Given the description of an element on the screen output the (x, y) to click on. 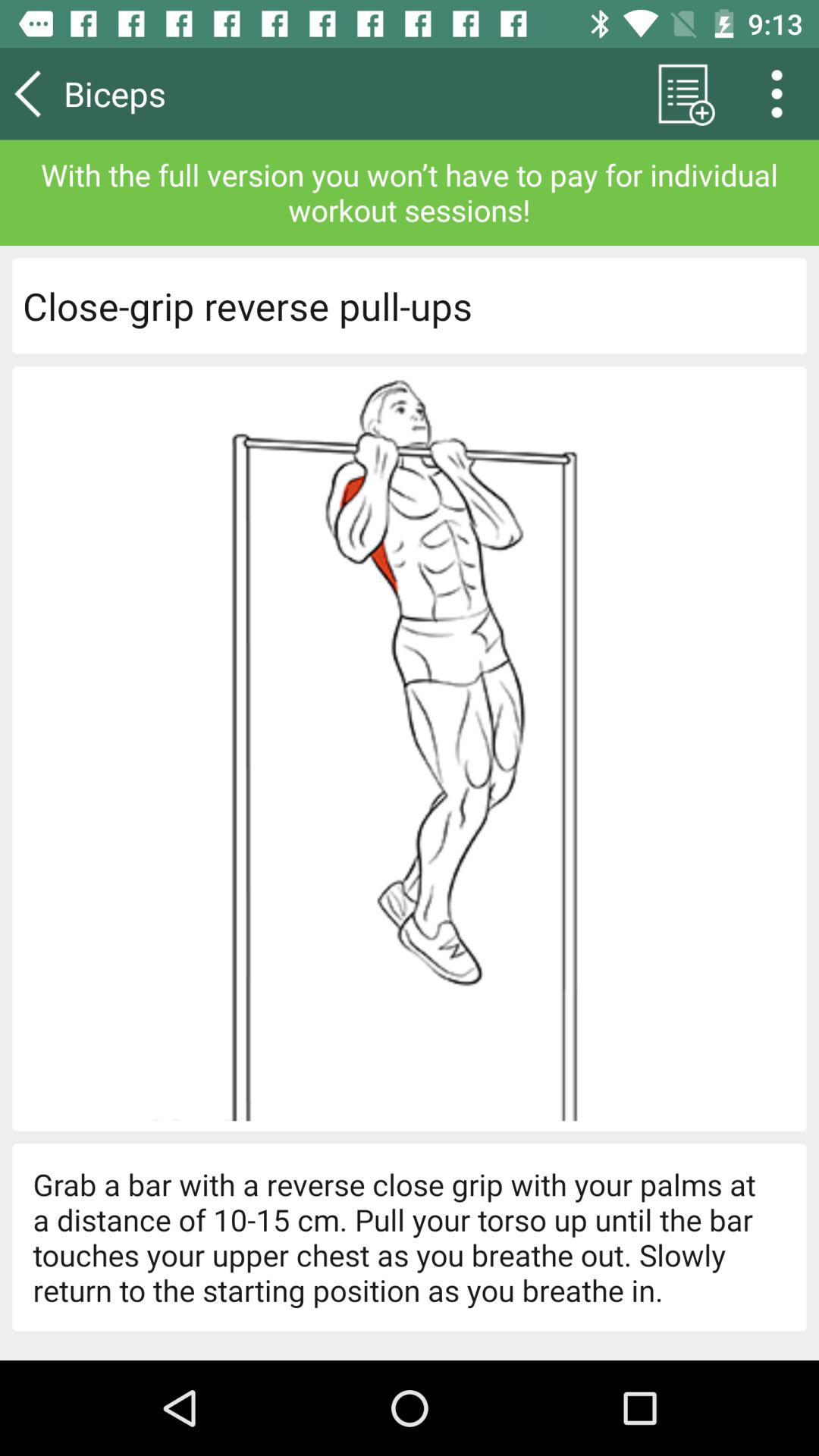
turn on the biceps item (157, 93)
